Given the description of an element on the screen output the (x, y) to click on. 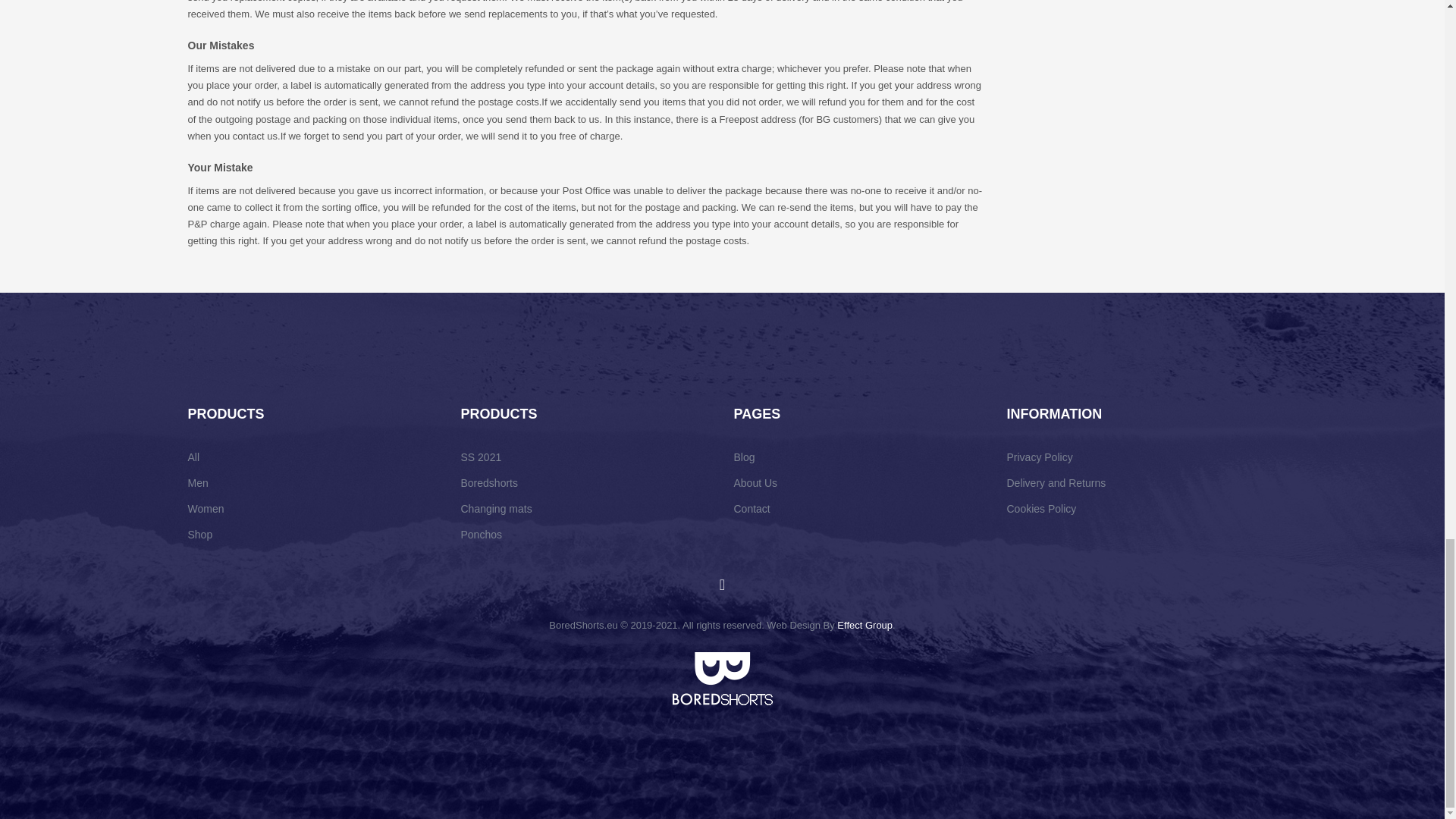
Shop (1132, 482)
Blog (199, 534)
Changing mats (744, 457)
Boredshorts (312, 495)
Contact (496, 508)
footer-boredshorts-logo (489, 482)
Privacy Policy (751, 508)
Women (721, 678)
Delivery and Returns (858, 482)
About Us (1040, 457)
Cookies Policy (205, 508)
